Given the description of an element on the screen output the (x, y) to click on. 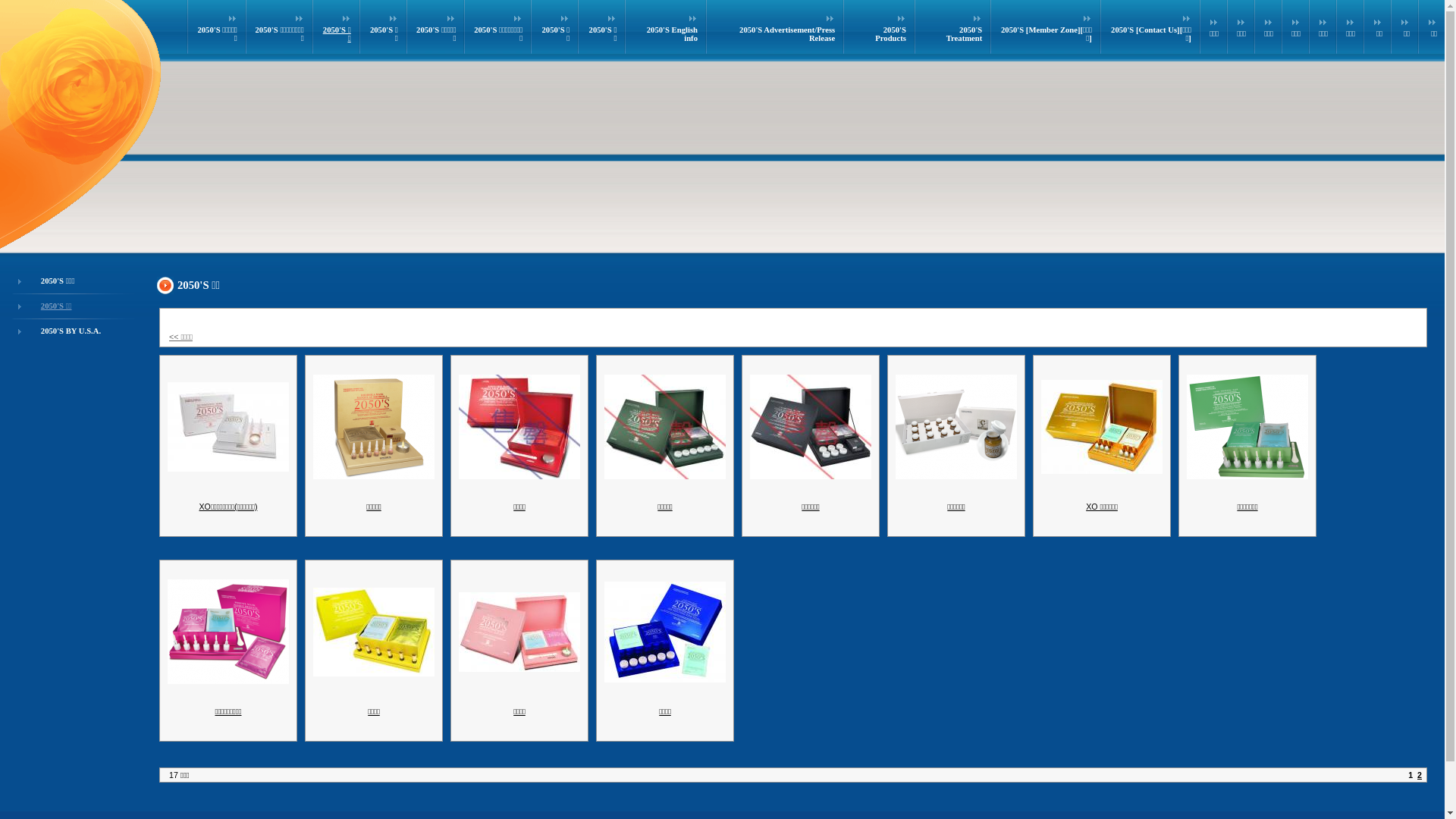
2050'S Treatment Element type: text (964, 33)
2050'S Products Element type: text (890, 33)
2050'S BY U.S.A. Element type: text (70, 330)
2050'S English info Element type: text (671, 33)
2 Element type: text (1419, 774)
2050'S Advertisement/Press Release Element type: text (786, 33)
